Given the description of an element on the screen output the (x, y) to click on. 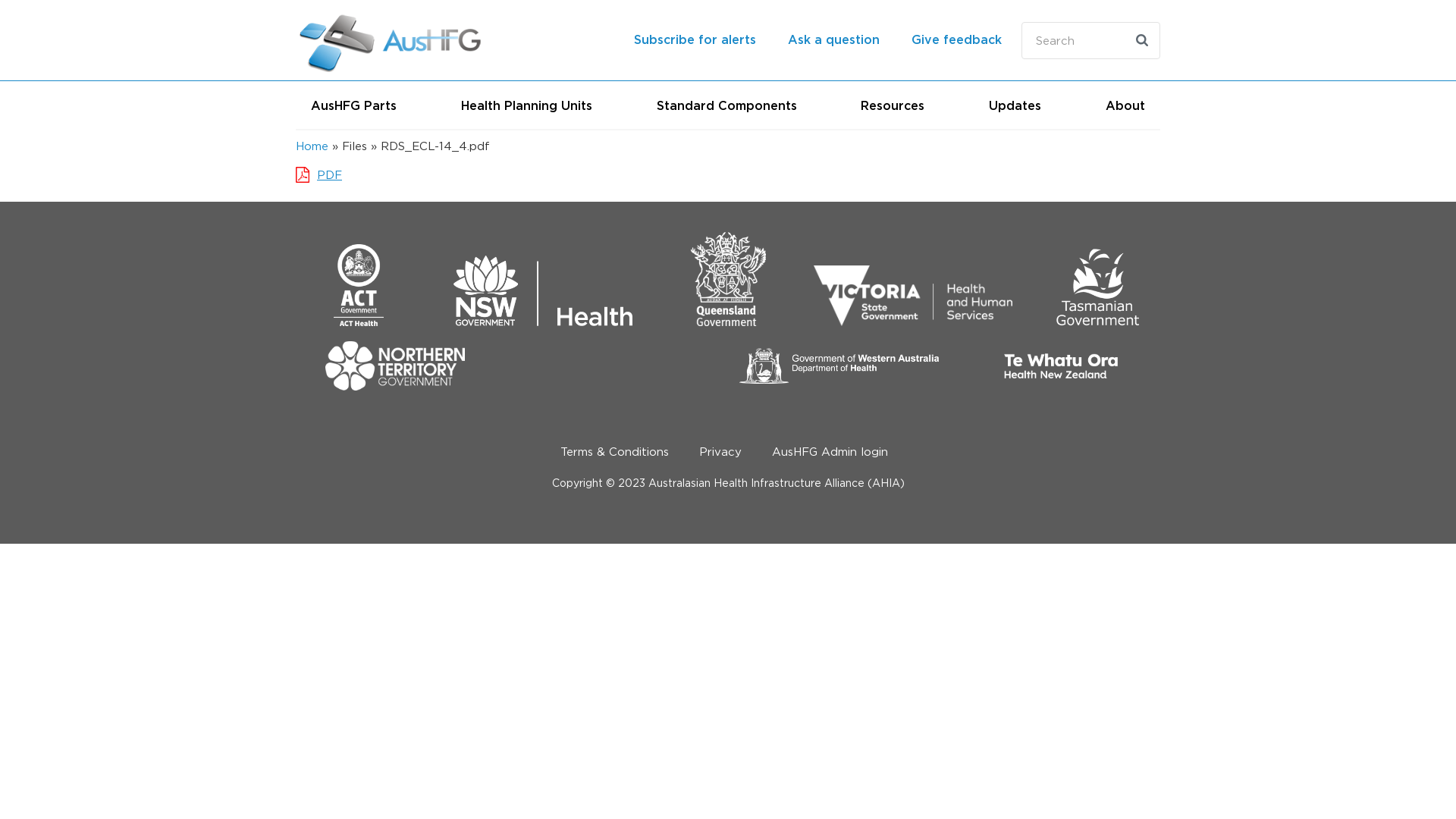
PDF Element type: text (329, 174)
application/pdf Element type: hover (304, 174)
Give feedback Element type: text (956, 40)
Updates Element type: text (1014, 105)
Terms & Conditions Element type: text (614, 451)
Privacy Element type: text (720, 451)
Standard Components Element type: text (726, 105)
About Element type: text (1125, 105)
Resources Element type: text (892, 105)
Skip to main content Element type: text (59, 128)
Ask a question Element type: text (833, 40)
Home Element type: text (311, 145)
Health Planning Units Element type: text (526, 105)
Home Element type: hover (390, 40)
AusHFG Parts Element type: text (353, 105)
Subscribe for alerts Element type: text (694, 40)
AusHFG Admin login Element type: text (829, 451)
